Given the description of an element on the screen output the (x, y) to click on. 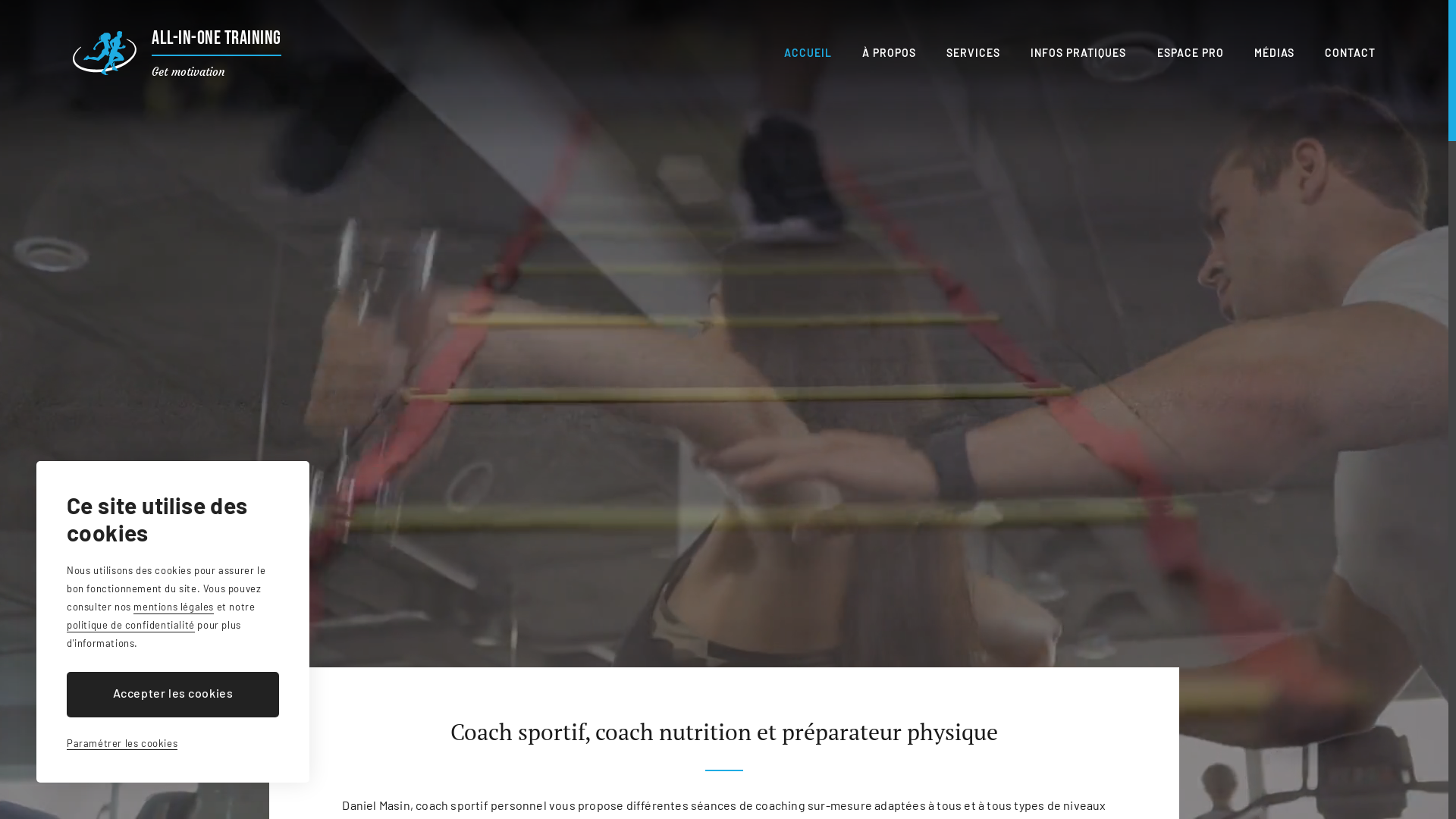
ALL-IN-ONE TRAINING
Get motivation Element type: text (176, 52)
SERVICES Element type: text (973, 53)
ACCUEIL Element type: text (807, 53)
ESPACE PRO Element type: text (1190, 53)
CONTACT Element type: text (1349, 53)
INFOS PRATIQUES Element type: text (1078, 53)
